Given the description of an element on the screen output the (x, y) to click on. 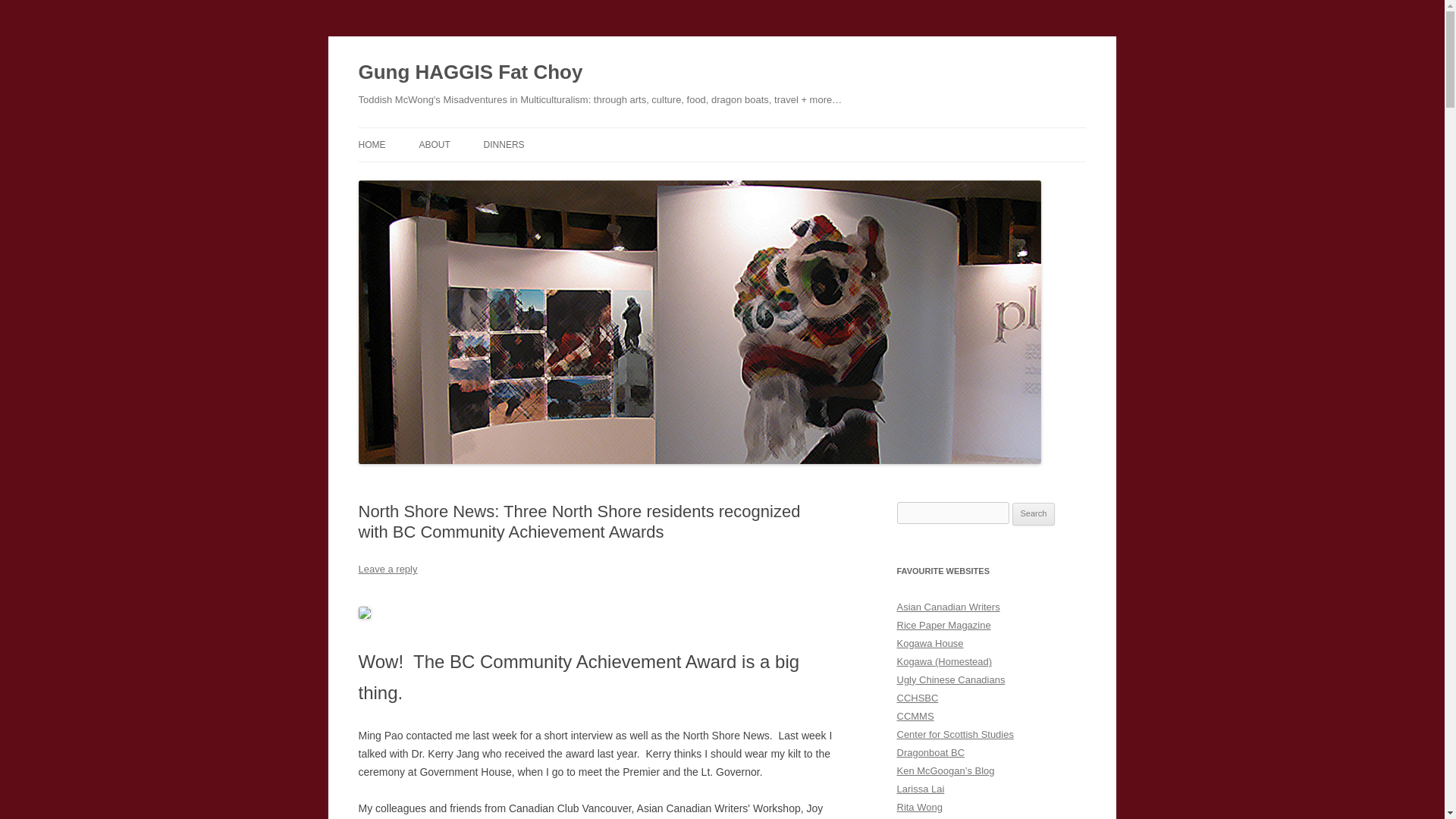
Gung HAGGIS Fat Choy (470, 72)
Larissa Lai (919, 788)
Dragonboat BC (929, 752)
Search (1033, 513)
Rita Wong (919, 807)
ABOUT (434, 144)
Kogawa House (929, 643)
Rice Paper Magazine (943, 624)
HOME (371, 144)
Ugly Chinese Canadians (950, 679)
Leave a reply (387, 568)
Center for Scottish Studies (954, 734)
Asian Canadian Writers (947, 606)
CCHSBC (916, 697)
